Given the description of an element on the screen output the (x, y) to click on. 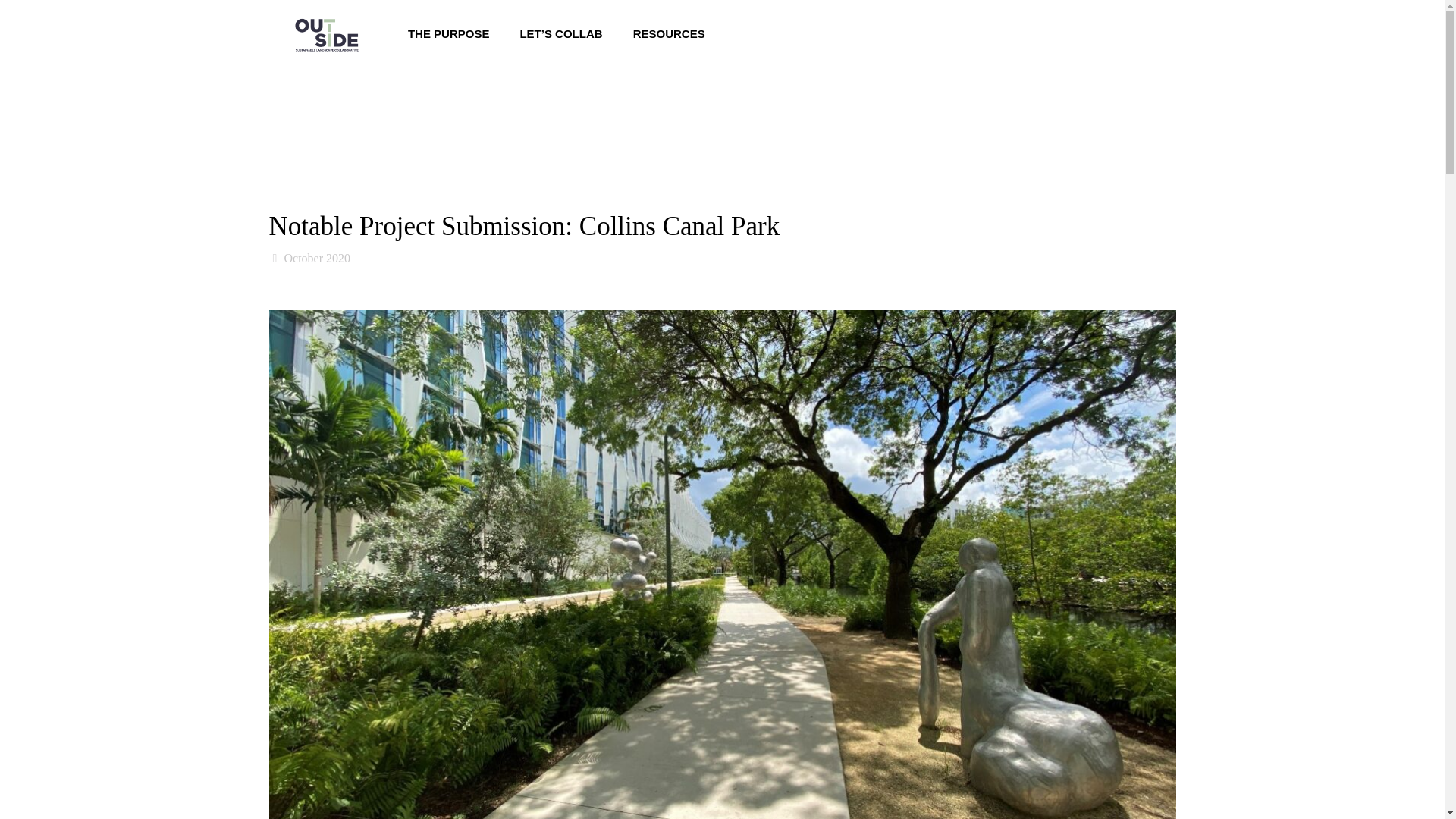
THE PURPOSE (449, 33)
RESOURCES (668, 33)
OUTSIDE Collab (326, 33)
